Given the description of an element on the screen output the (x, y) to click on. 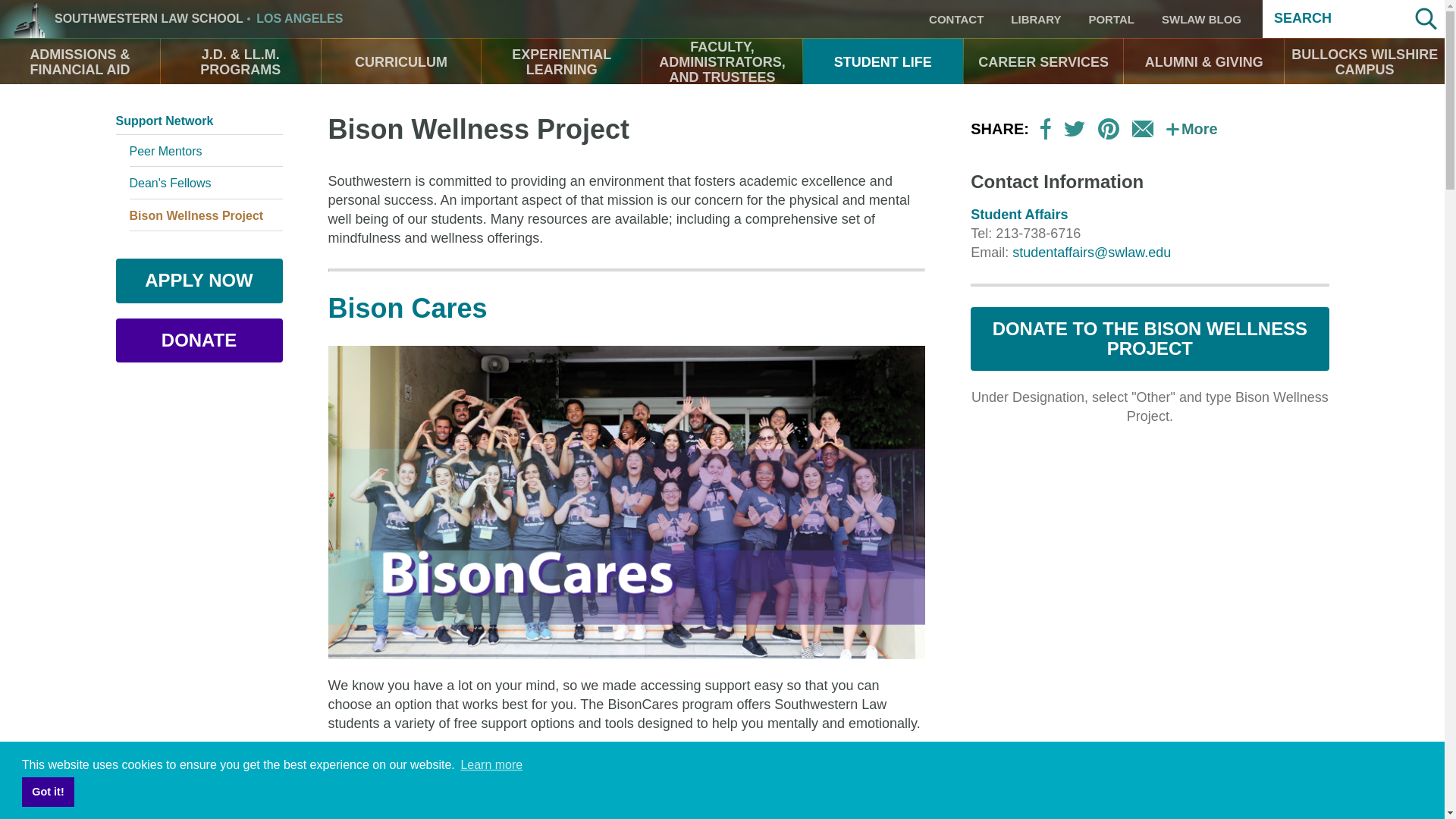
Ways to take your skills out into the world as a law student (561, 62)
Got it! (47, 791)
Learn more (491, 764)
The rich tapestry of student life at Southwestern (882, 62)
